Given the description of an element on the screen output the (x, y) to click on. 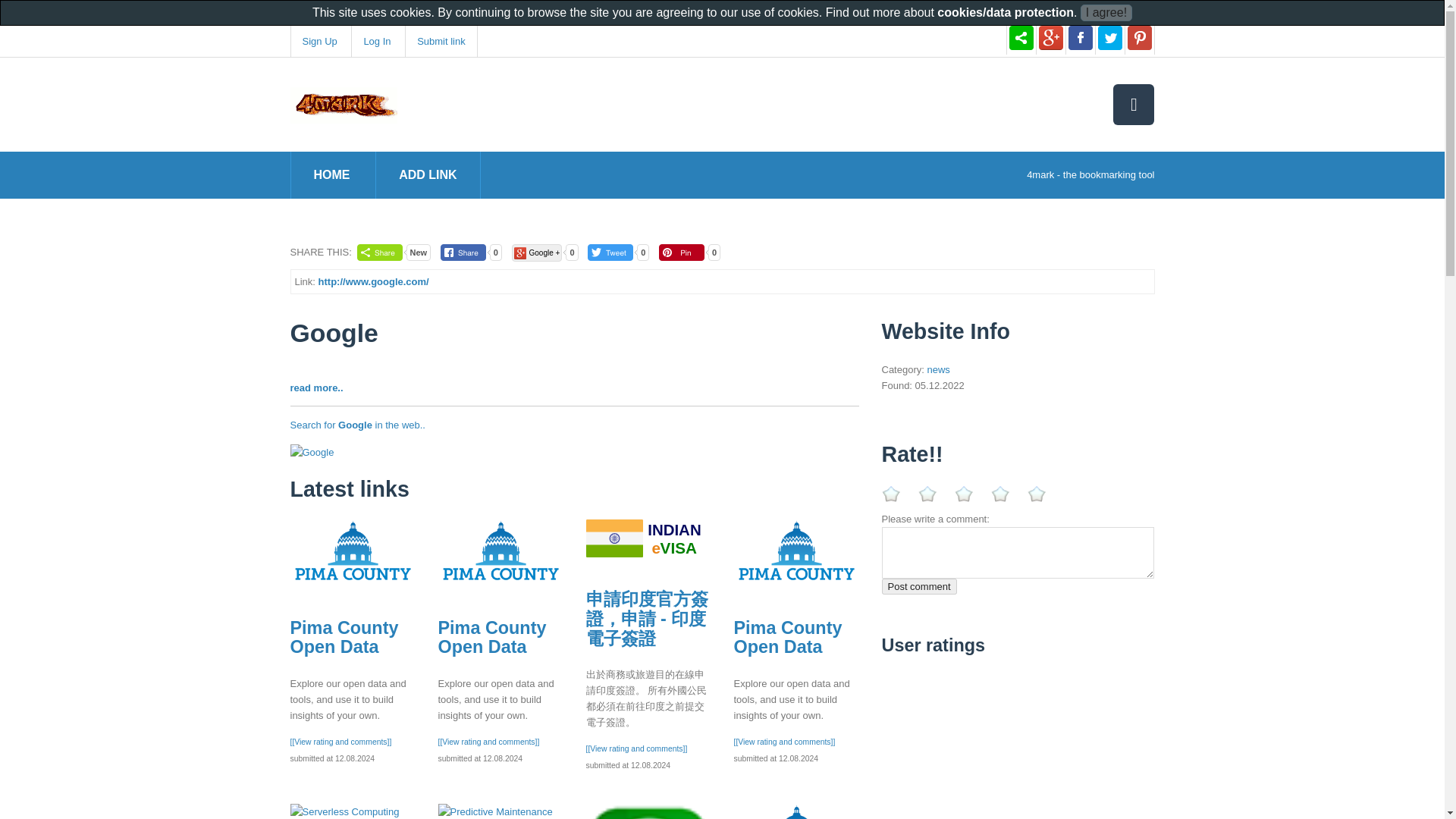
Pima County Open Data (796, 552)
Sign Up (318, 40)
Pima County Open Data (492, 637)
Search for Google in the web.. (357, 424)
Predictive Maintenance as a Service for the Steel Industry (500, 811)
Pima County Open Data (343, 637)
Pima County Open Data (796, 811)
Submit link (440, 40)
Pima County Open Data (351, 552)
